Given the description of an element on the screen output the (x, y) to click on. 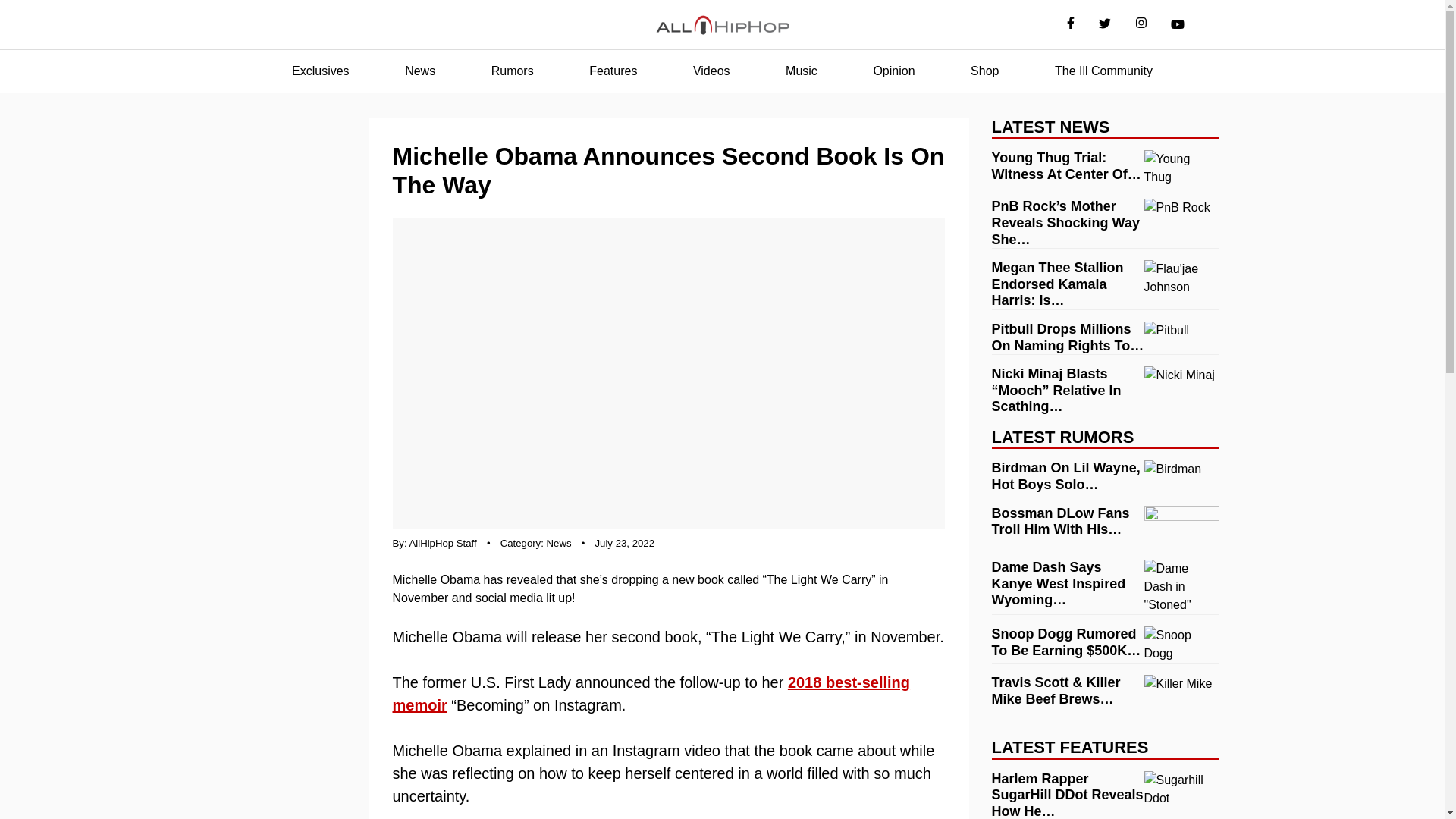
July 23, 2022 (624, 542)
Opinion (893, 70)
Exclusives (320, 70)
AllHipHop Staff (443, 542)
The Ill Community (1103, 70)
Videos (711, 70)
Music (801, 70)
News (559, 542)
AllHipHop (722, 25)
News (419, 70)
Features (612, 70)
Rumors (512, 70)
Shop (984, 70)
